Given the description of an element on the screen output the (x, y) to click on. 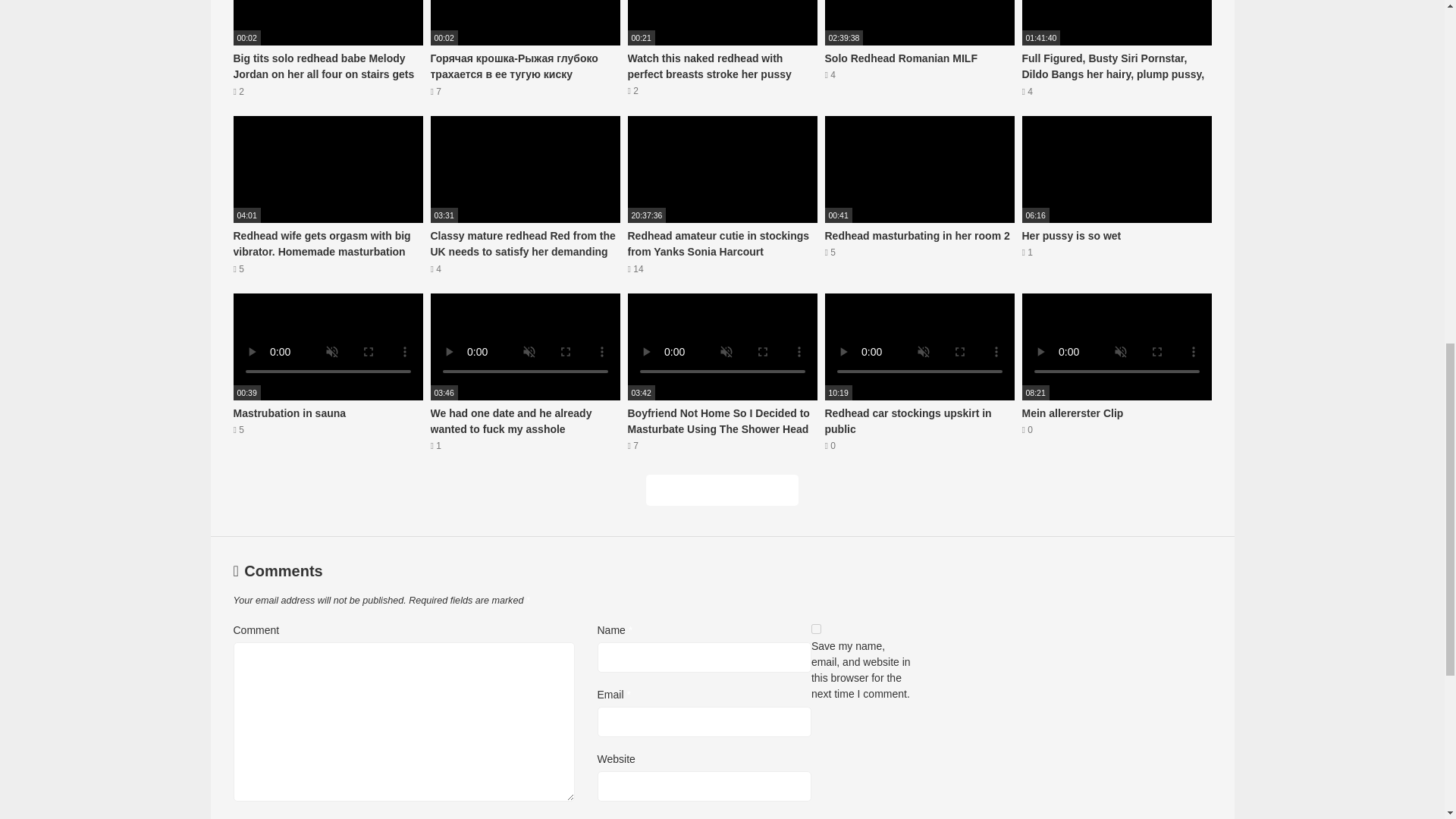
Solo Redhead Romanian MILF (919, 49)
yes (815, 628)
